Given the description of an element on the screen output the (x, y) to click on. 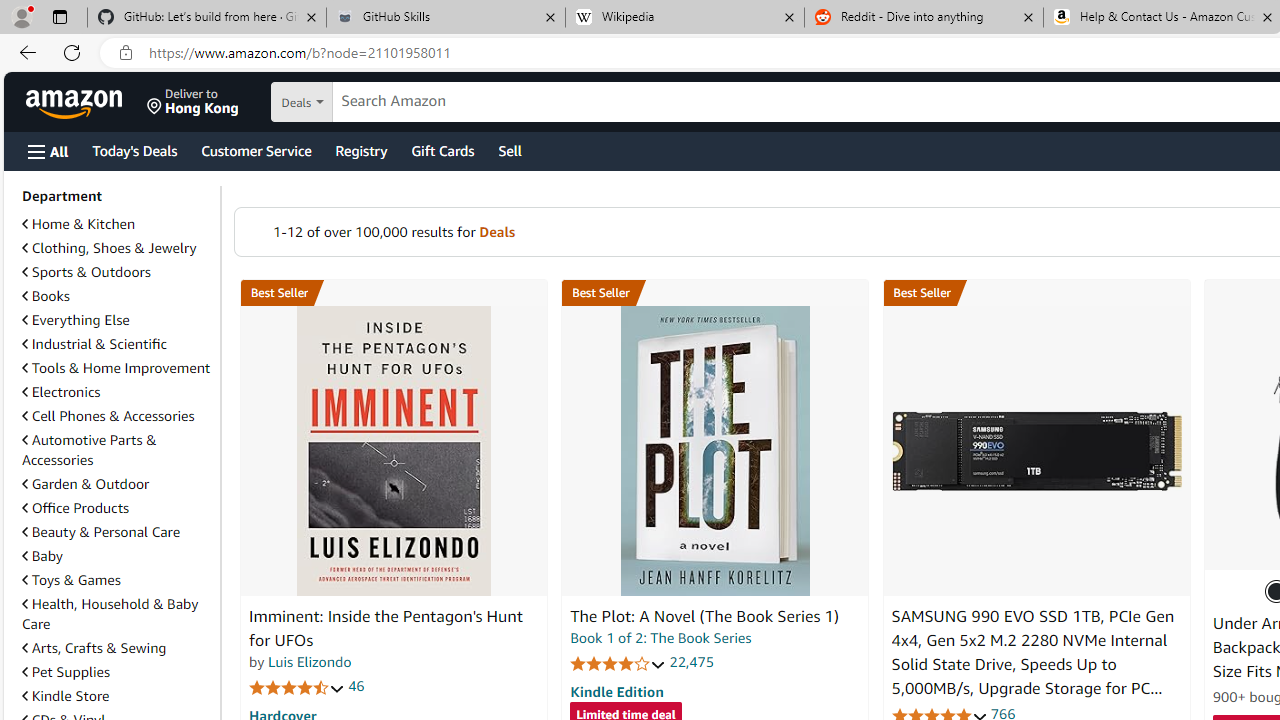
Open Menu (48, 151)
Health, Household & Baby Care (109, 613)
Health, Household & Baby Care (117, 614)
Luis Elizondo (309, 662)
GitHub Skills (445, 17)
Books (117, 295)
Imminent: Inside the Pentagon's Hunt for UFOs (393, 451)
Customer Service (256, 150)
Office Products (75, 507)
Clothing, Shoes & Jewelry (109, 248)
Cell Phones & Accessories (117, 416)
Deliver to Hong Kong (193, 101)
Tools & Home Improvement (116, 368)
